Given the description of an element on the screen output the (x, y) to click on. 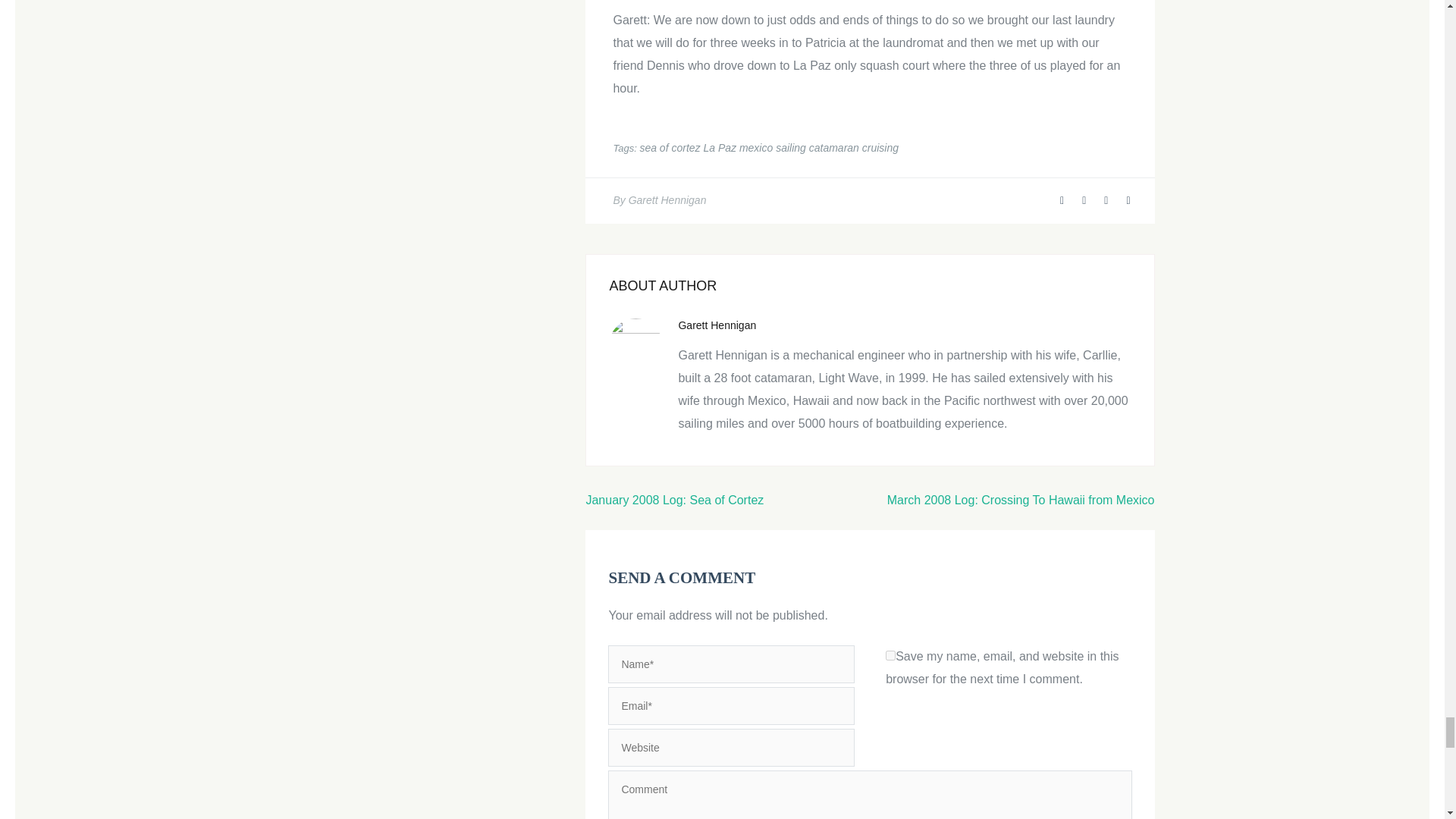
January 2008 Log: Sea of Cortez (673, 499)
yes (890, 655)
By Garett Hennigan (659, 200)
March 2008 Log: Crossing To Hawaii from Mexico (1020, 499)
sea of cortez La Paz mexico sailing catamaran cruising (768, 147)
